Given the description of an element on the screen output the (x, y) to click on. 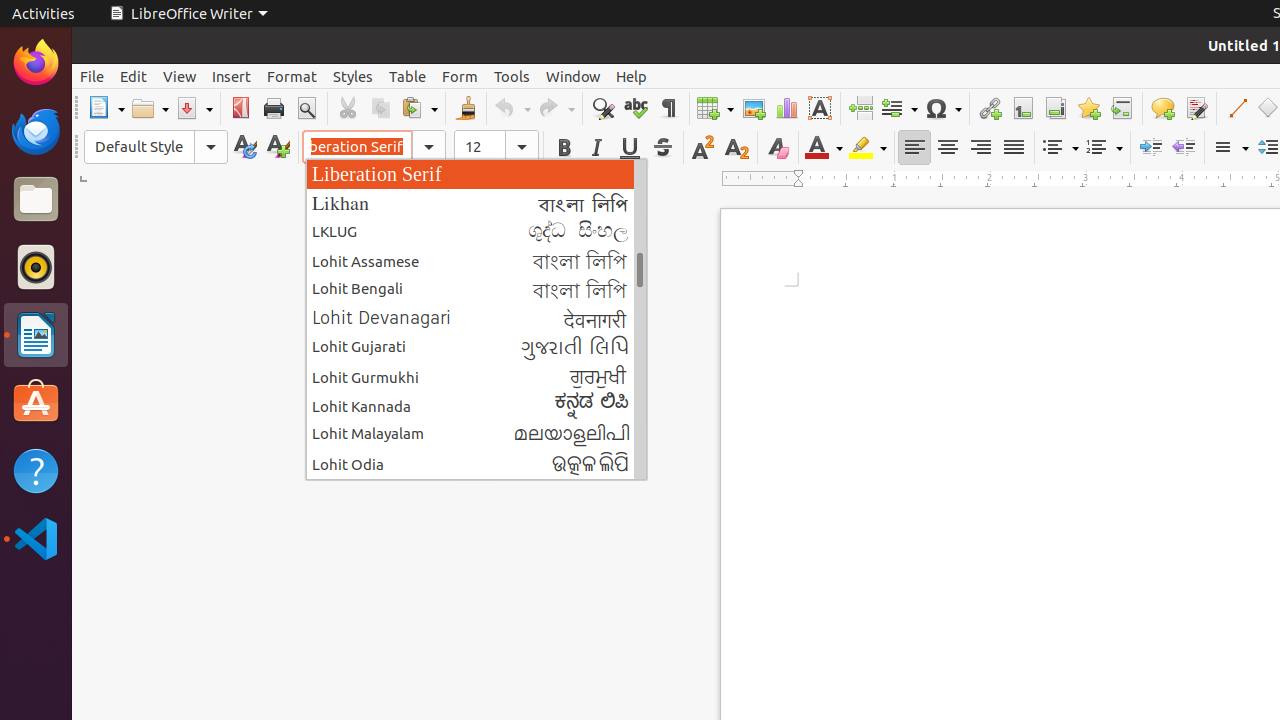
Highlight Color Element type: push-button (868, 147)
Open Element type: push-button (150, 108)
LKLUG Element type: list-item (476, 231)
Print Element type: push-button (273, 108)
Format Element type: menu (292, 76)
